Given the description of an element on the screen output the (x, y) to click on. 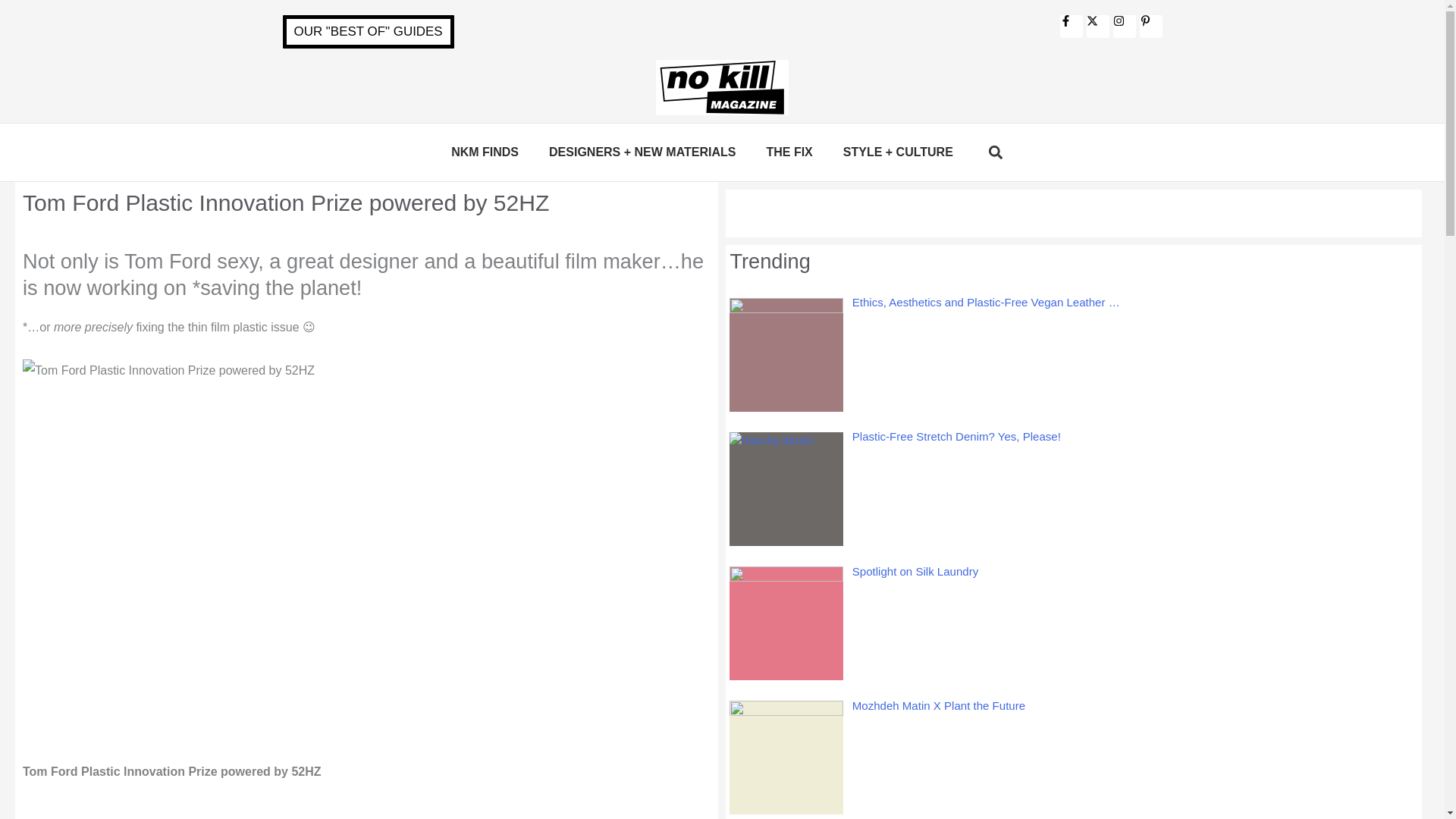
OUR "BEST OF" GUIDES (367, 31)
Plastic-Free Stretch Denim? Yes, Please! (956, 436)
Instagram (1124, 26)
Mozhdeh Matin X Plant the Future (938, 705)
Pinterest-p (1149, 26)
X-twitter (1097, 26)
THE FIX (789, 152)
Facebook-f (1071, 26)
NKM FINDS (484, 152)
Spotlight on Silk Laundry (914, 570)
